Given the description of an element on the screen output the (x, y) to click on. 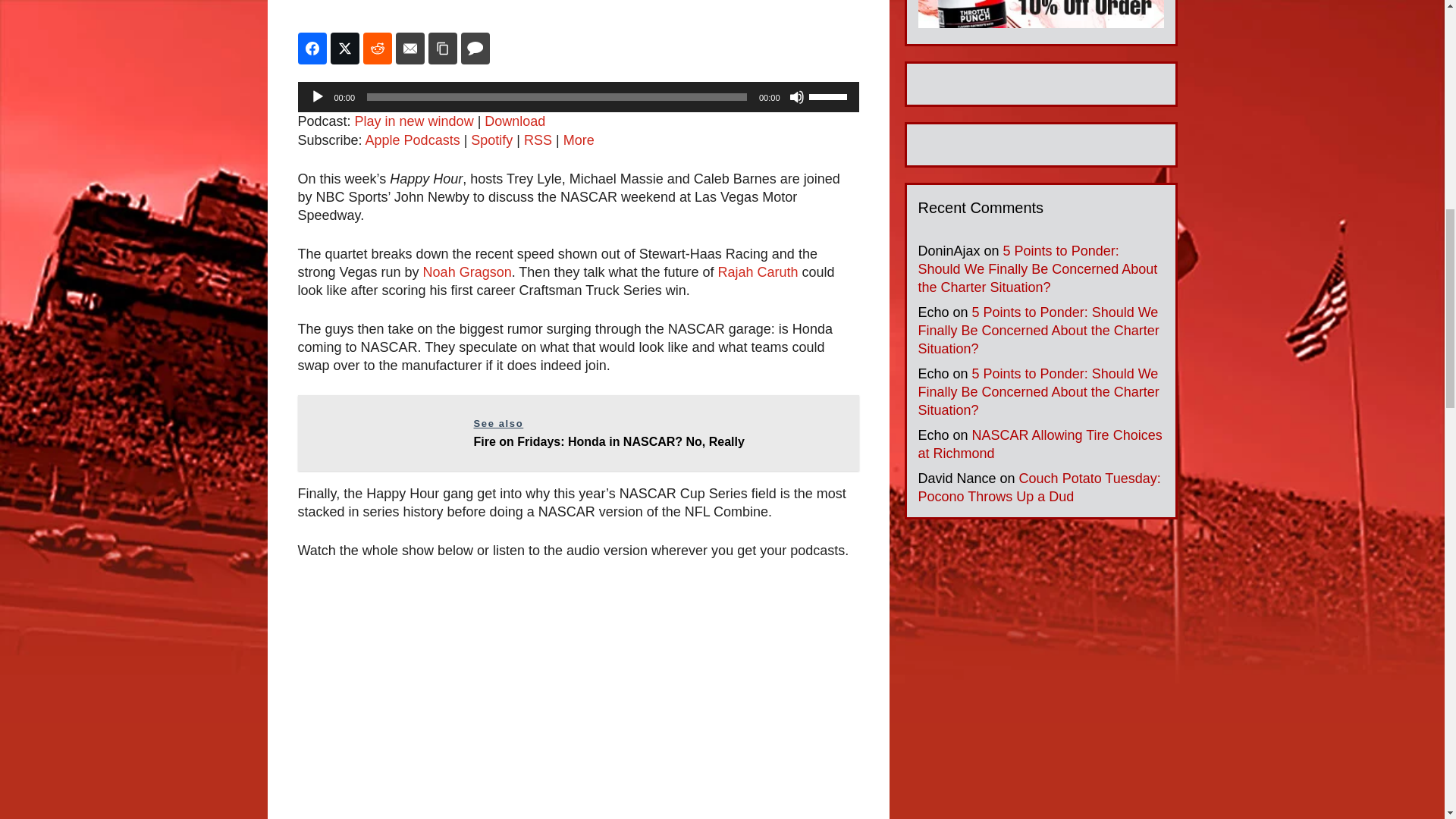
Noah Gragson (467, 272)
Subscribe via RSS (537, 140)
Share on Email (410, 48)
Subscribe on Spotify (491, 140)
Mute (796, 96)
More (578, 140)
Apple Podcasts (412, 140)
Share on Copy Link (442, 48)
Download (514, 120)
Play in new window (414, 120)
Share on Twitter (344, 48)
RSS (537, 140)
Download (514, 120)
Spotify (491, 140)
Rajah Caruth (757, 272)
